Given the description of an element on the screen output the (x, y) to click on. 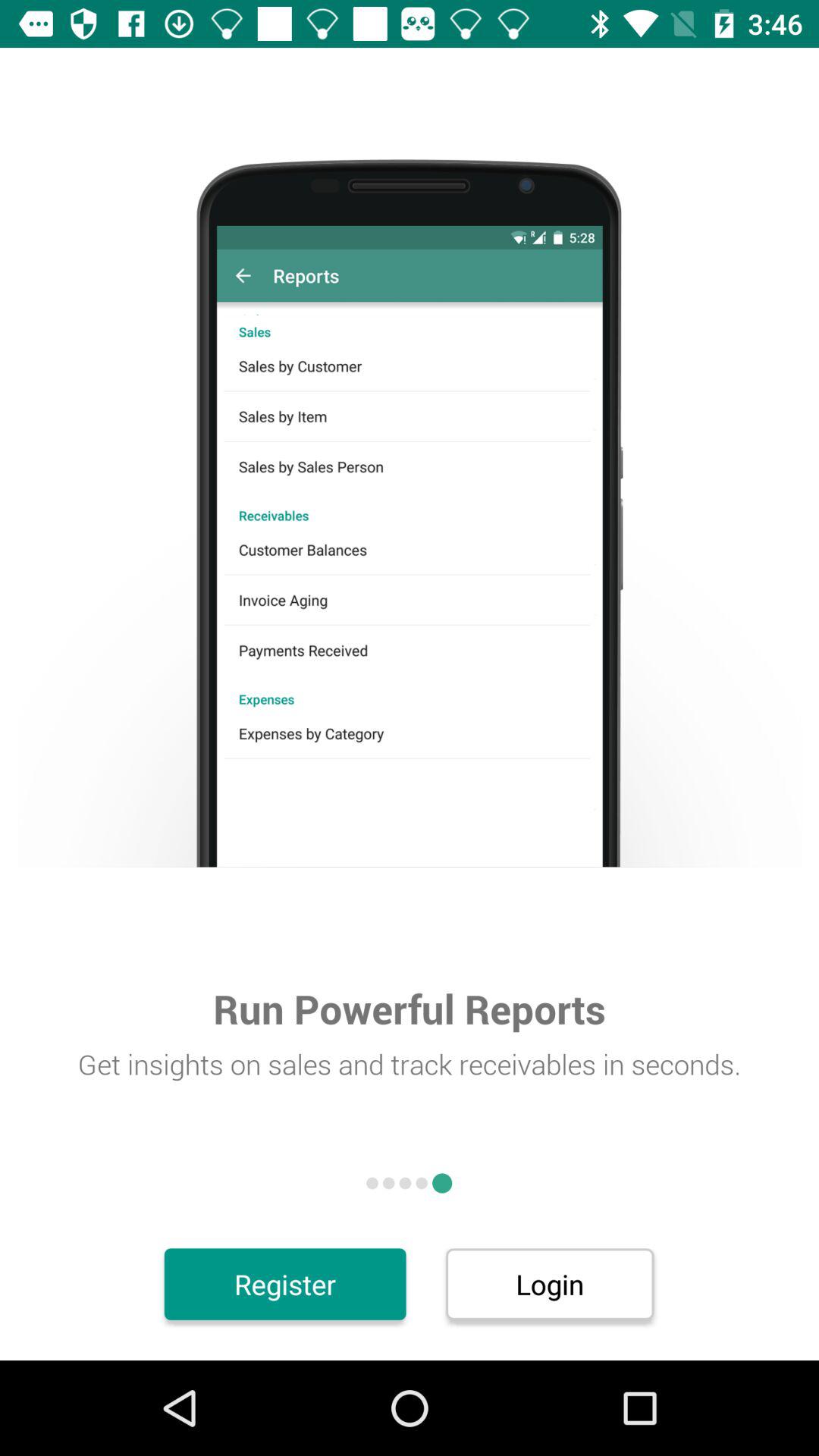
turn on button next to login (285, 1284)
